Given the description of an element on the screen output the (x, y) to click on. 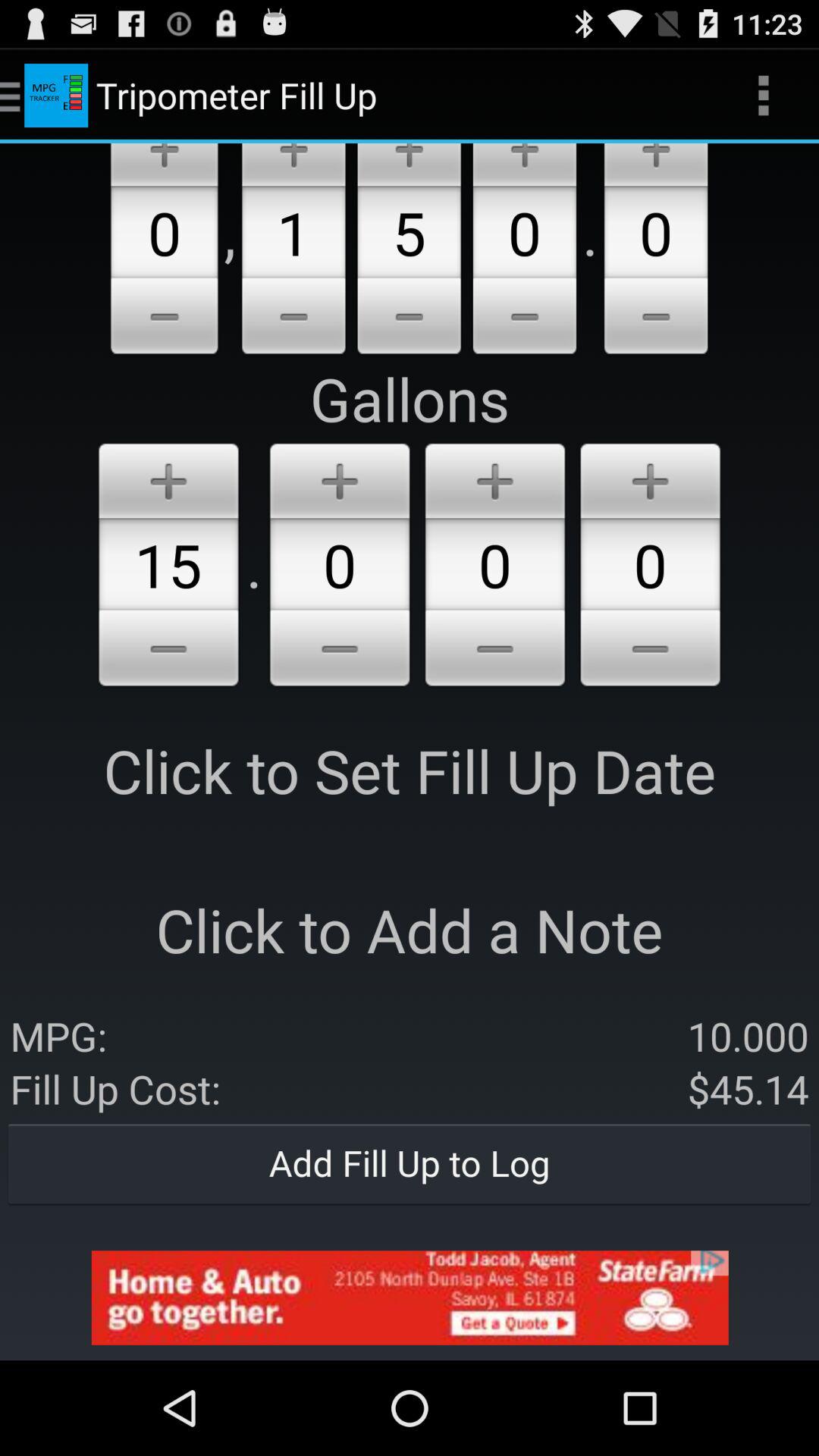
adjust fill up number (408, 318)
